Given the description of an element on the screen output the (x, y) to click on. 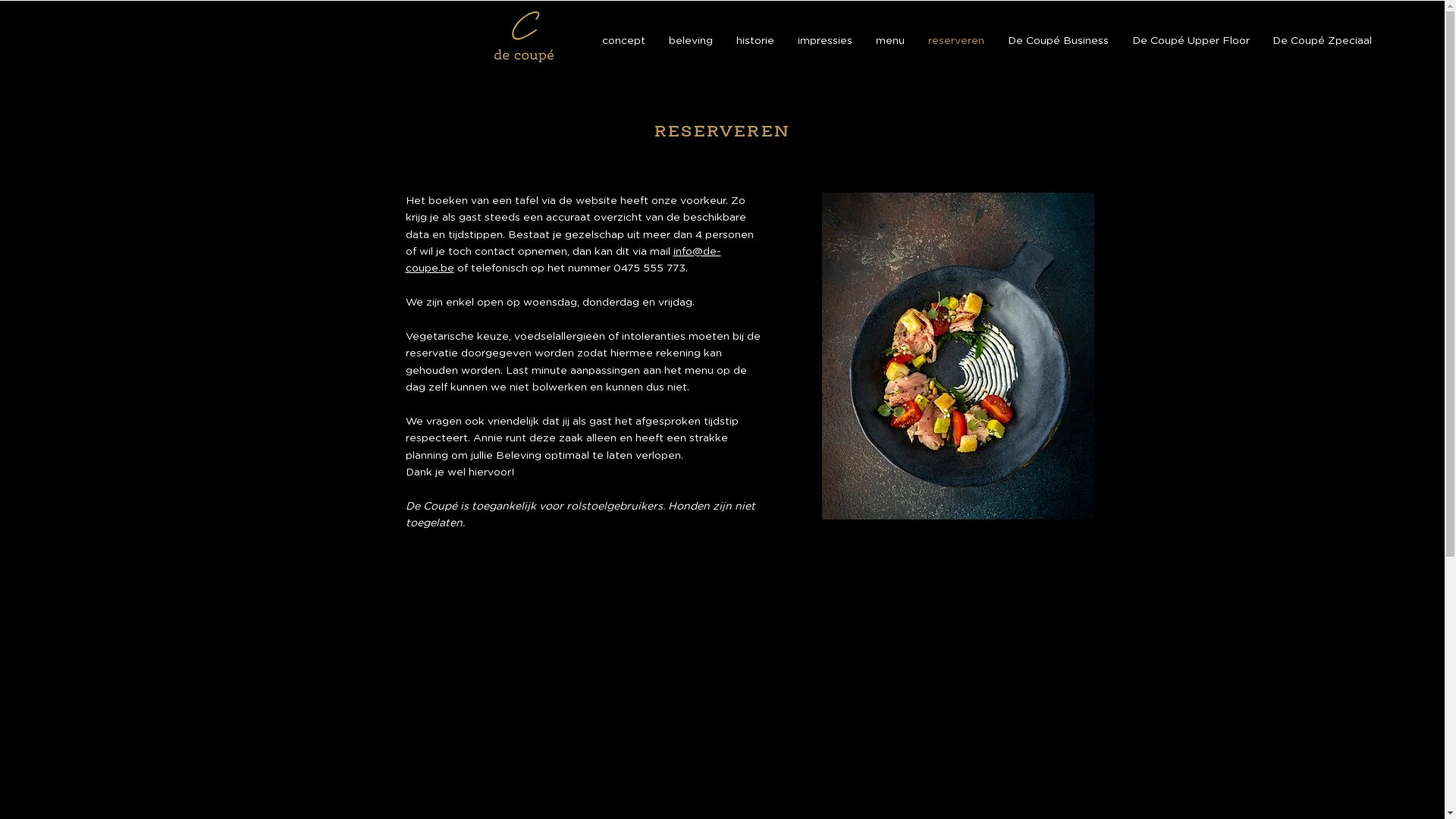
impressies Element type: text (824, 40)
beleving Element type: text (690, 40)
historie Element type: text (754, 40)
reserveren Element type: text (955, 40)
concept Element type: text (622, 40)
info@de-coupe.be Element type: text (562, 259)
menu Element type: text (889, 40)
